Given the description of an element on the screen output the (x, y) to click on. 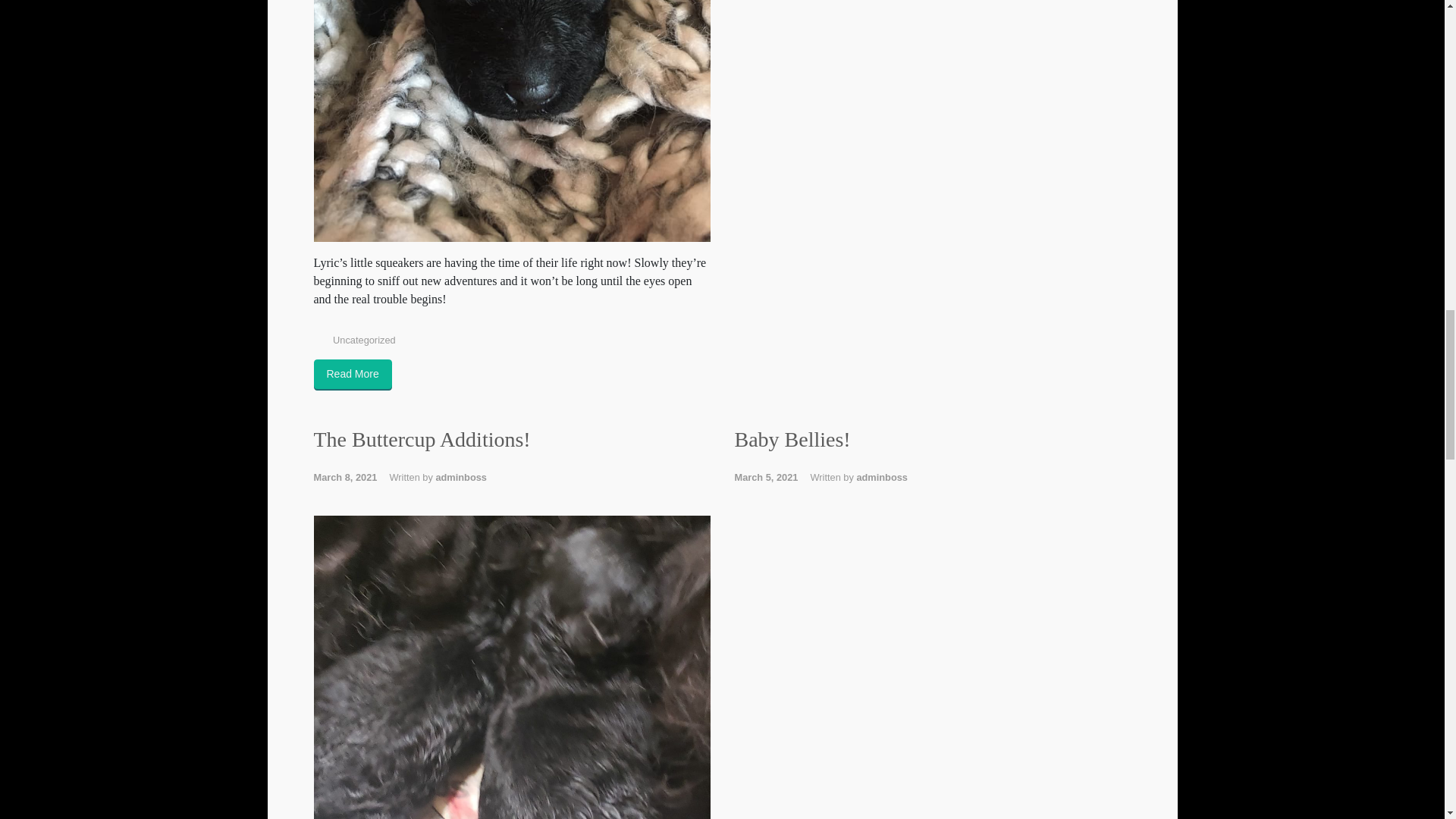
View all posts by adminboss (881, 477)
Uncategorized (364, 339)
Read More (352, 374)
View all posts by adminboss (460, 477)
